Given the description of an element on the screen output the (x, y) to click on. 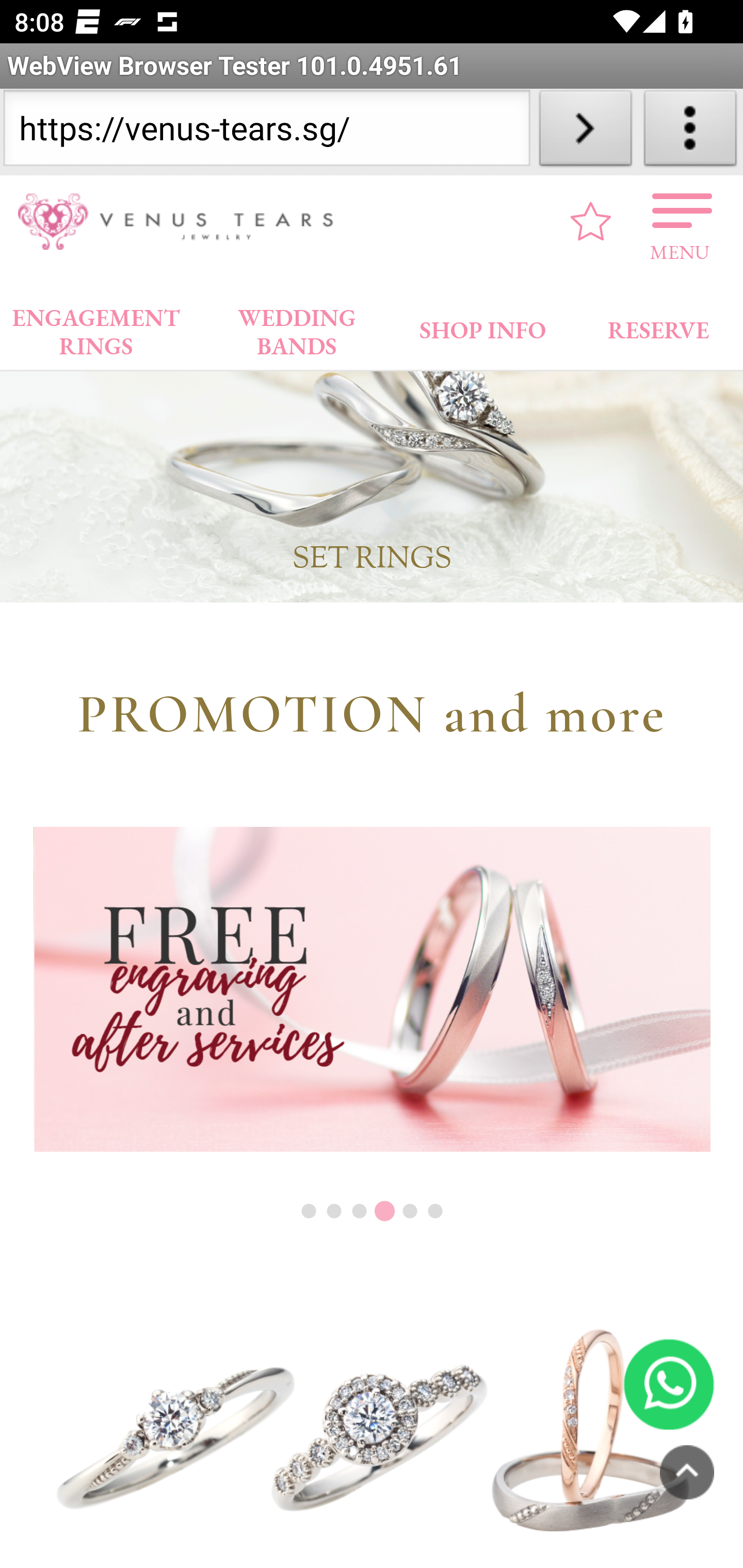
https://venus-tears.sg/ (266, 132)
Load URL (585, 132)
About WebView (690, 132)
favourite (591, 222)
MENU (680, 221)
VENUS TEARS (181, 221)
ENGAGEMENT RINGS ENGAGEMENT RINGS (96, 327)
WEDDING BANDS WEDDING BANDS (296, 327)
SHOP INFO (482, 325)
RESERVE (657, 325)
SET RINGS (371, 449)
Venus Tears Engraving (371, 990)
Go to slide 4 (384, 1212)
Go to slide 1 (308, 1211)
Go to slide 2 (334, 1211)
Go to slide 3 (359, 1211)
Go to slide 5 (410, 1211)
Go to slide 6 (435, 1211)
6585184875 (668, 1385)
PAGETOP (686, 1473)
